Given the description of an element on the screen output the (x, y) to click on. 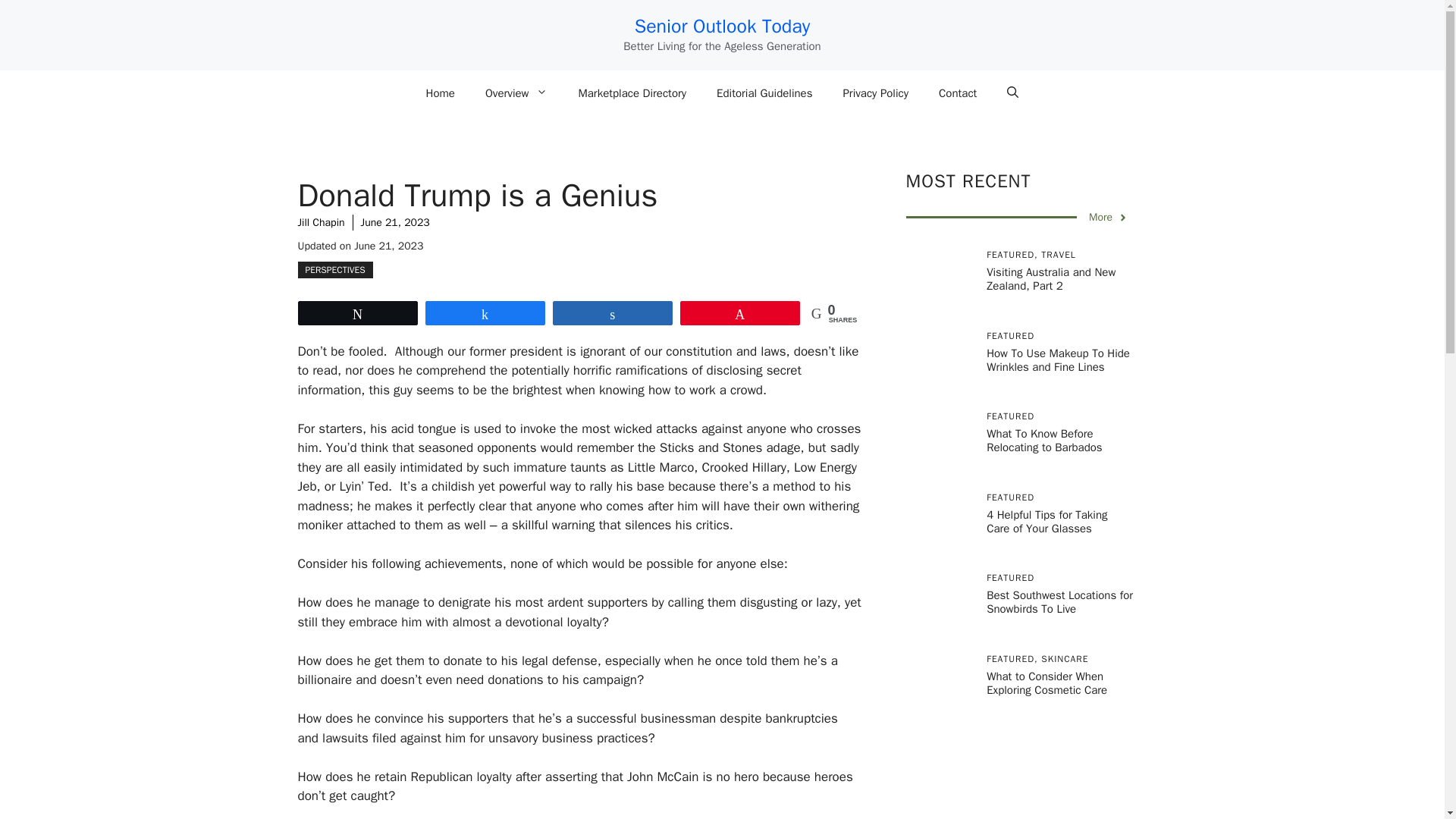
Jill Chapin (320, 222)
PERSPECTIVES (334, 269)
What To Know Before Relocating to Barbados (1044, 440)
Senior Outlook Today (722, 25)
More (1108, 217)
Overview (516, 92)
4 Helpful Tips for Taking Care of Your Glasses (1046, 521)
Editorial Guidelines (764, 92)
Visiting Australia and New Zealand, Part 2 (1051, 278)
What to Consider When Exploring Cosmetic Care (1046, 682)
